Given the description of an element on the screen output the (x, y) to click on. 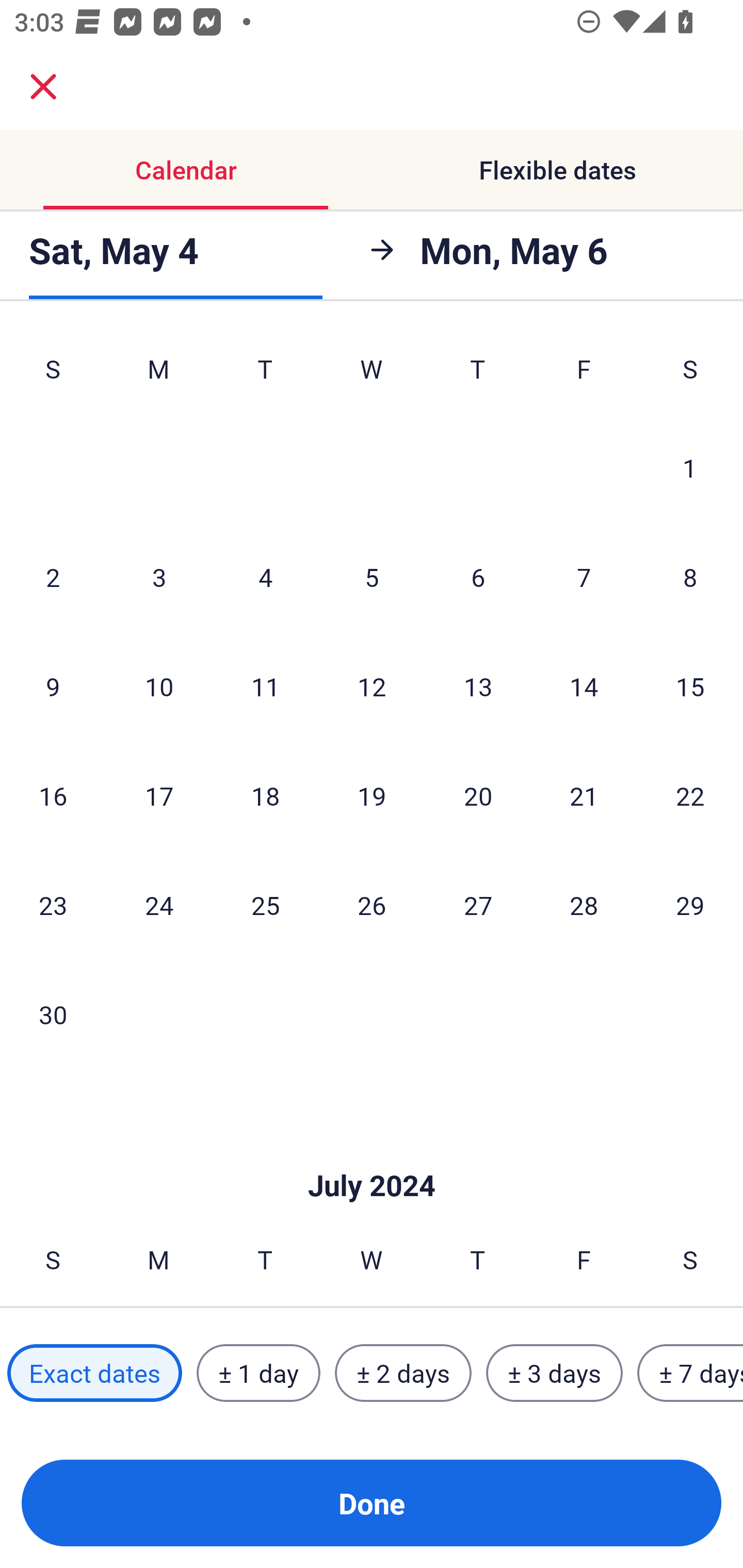
close. (43, 86)
Flexible dates (557, 170)
1 Saturday, June 1, 2024 (689, 466)
2 Sunday, June 2, 2024 (53, 576)
3 Monday, June 3, 2024 (159, 576)
4 Tuesday, June 4, 2024 (265, 576)
5 Wednesday, June 5, 2024 (371, 576)
6 Thursday, June 6, 2024 (477, 576)
7 Friday, June 7, 2024 (584, 576)
8 Saturday, June 8, 2024 (690, 576)
9 Sunday, June 9, 2024 (53, 685)
10 Monday, June 10, 2024 (159, 685)
11 Tuesday, June 11, 2024 (265, 685)
12 Wednesday, June 12, 2024 (371, 685)
13 Thursday, June 13, 2024 (477, 685)
14 Friday, June 14, 2024 (584, 685)
15 Saturday, June 15, 2024 (690, 685)
16 Sunday, June 16, 2024 (53, 795)
17 Monday, June 17, 2024 (159, 795)
18 Tuesday, June 18, 2024 (265, 795)
19 Wednesday, June 19, 2024 (371, 795)
20 Thursday, June 20, 2024 (477, 795)
21 Friday, June 21, 2024 (584, 795)
22 Saturday, June 22, 2024 (690, 795)
23 Sunday, June 23, 2024 (53, 904)
24 Monday, June 24, 2024 (159, 904)
25 Tuesday, June 25, 2024 (265, 904)
26 Wednesday, June 26, 2024 (371, 904)
27 Thursday, June 27, 2024 (477, 904)
28 Friday, June 28, 2024 (584, 904)
29 Saturday, June 29, 2024 (690, 904)
30 Sunday, June 30, 2024 (53, 1014)
Skip to Done (371, 1154)
Exact dates (94, 1372)
± 1 day (258, 1372)
± 2 days (403, 1372)
± 3 days (553, 1372)
± 7 days (690, 1372)
Done (371, 1502)
